Given the description of an element on the screen output the (x, y) to click on. 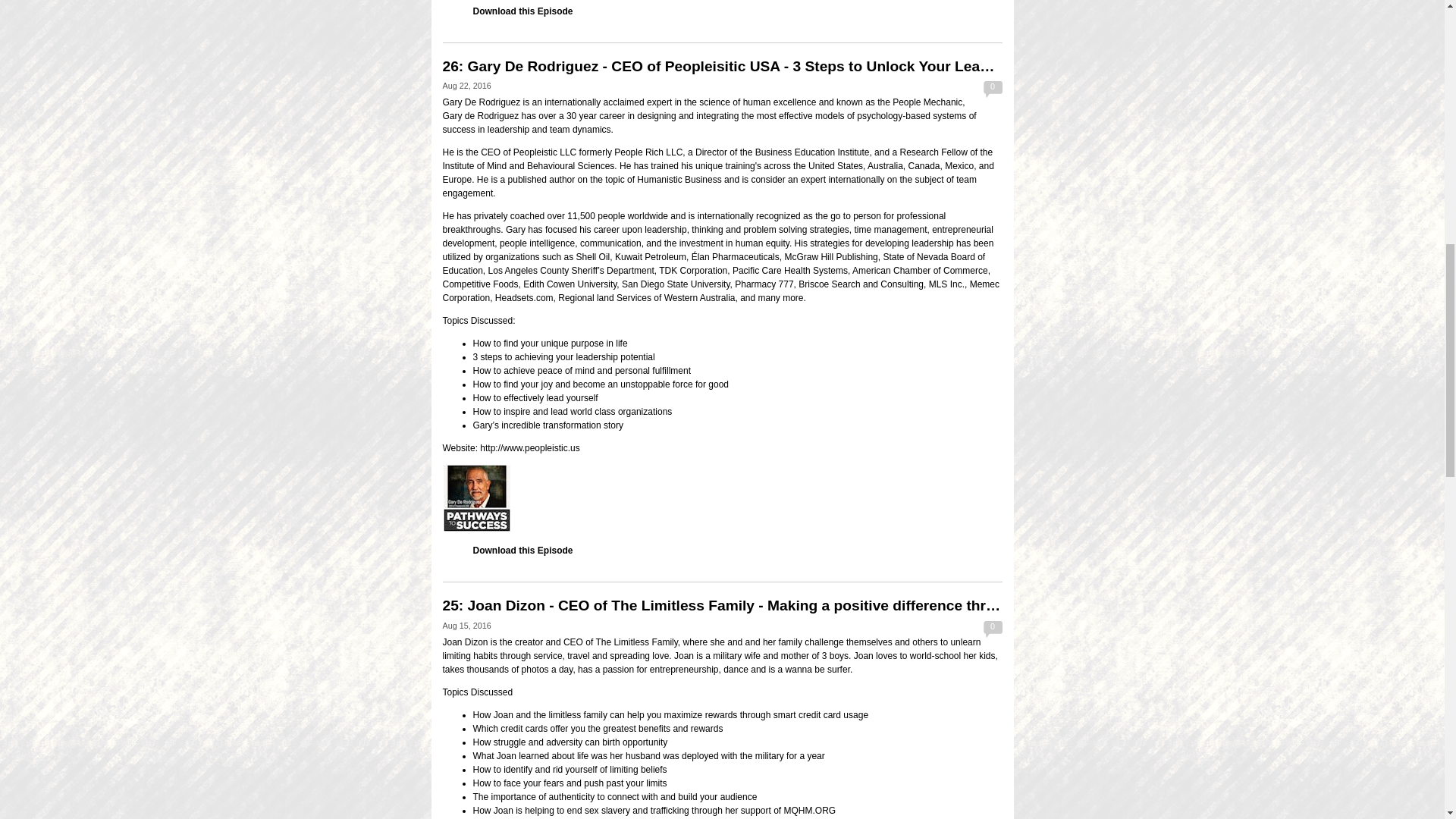
Libsyn Player (722, 498)
